Given the description of an element on the screen output the (x, y) to click on. 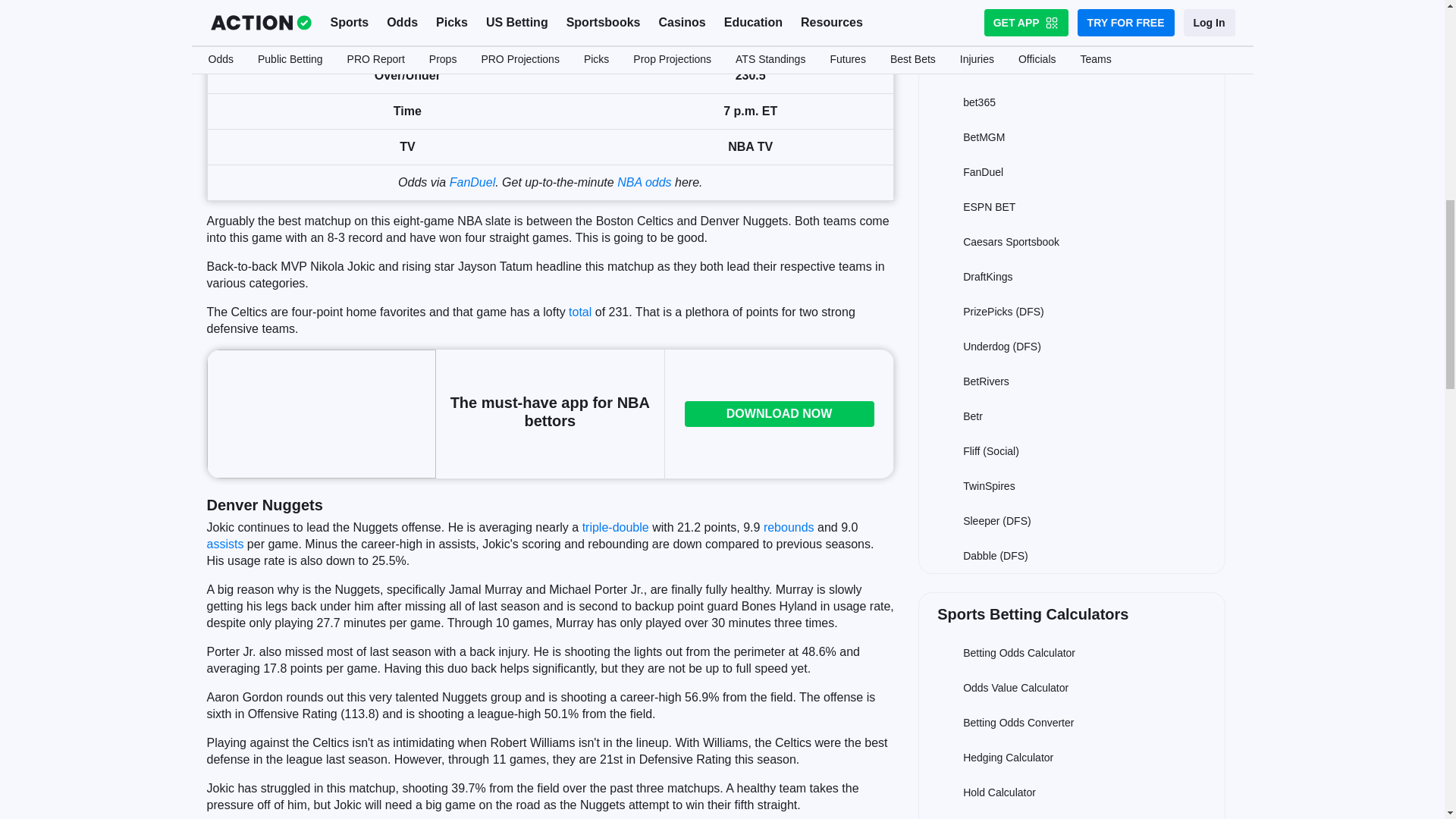
Nuggets (390, 5)
DOWNLOAD NOW (779, 413)
FanDuel (472, 182)
triple-double (615, 526)
NBA odds (644, 182)
total (580, 311)
Celtics (389, 39)
rebounds (787, 526)
assists (224, 543)
